Given the description of an element on the screen output the (x, y) to click on. 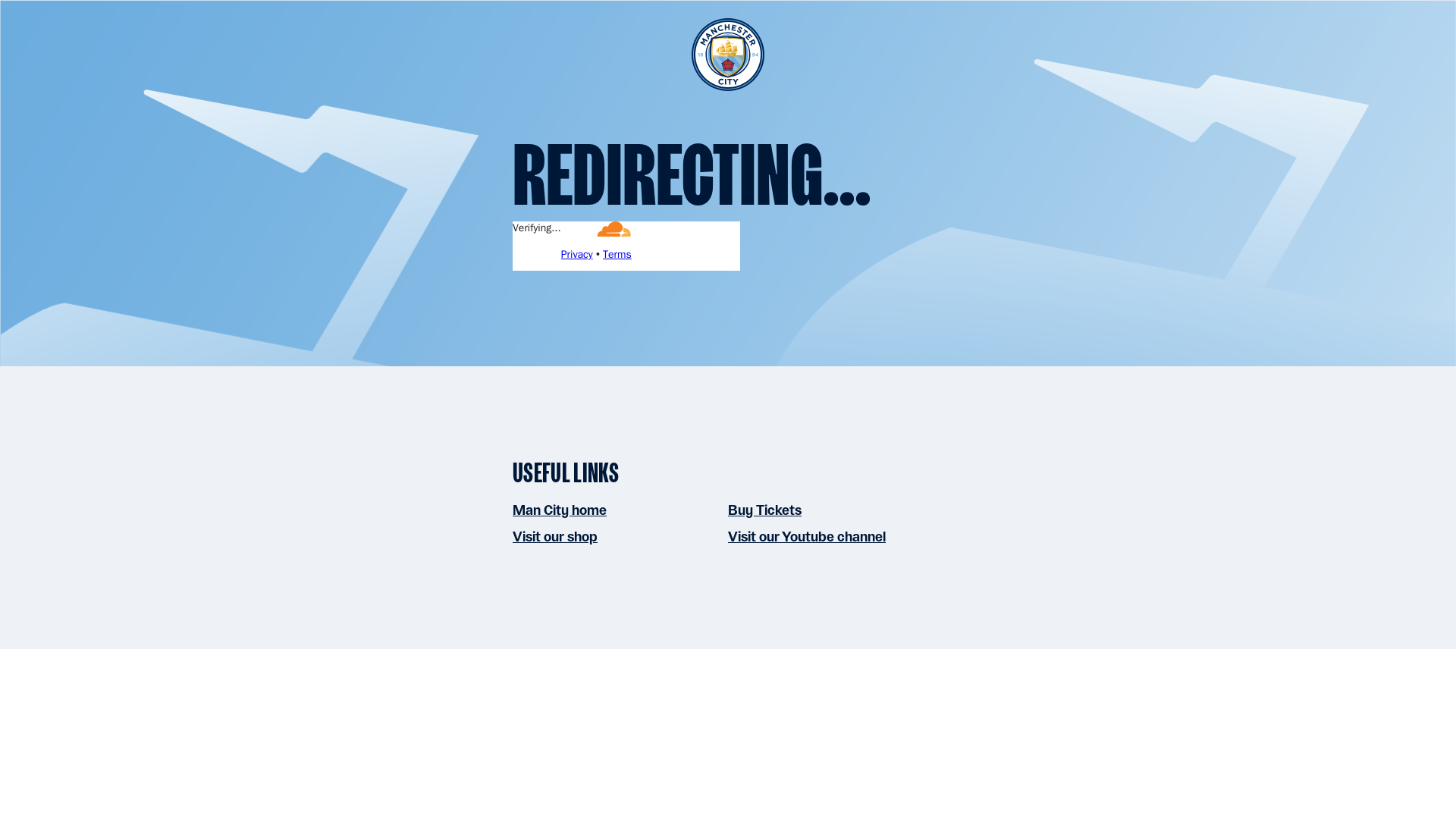
Man City home (559, 509)
Buy Tickets (765, 509)
Visit our shop (554, 536)
Visit our Youtube channel (806, 536)
